Given the description of an element on the screen output the (x, y) to click on. 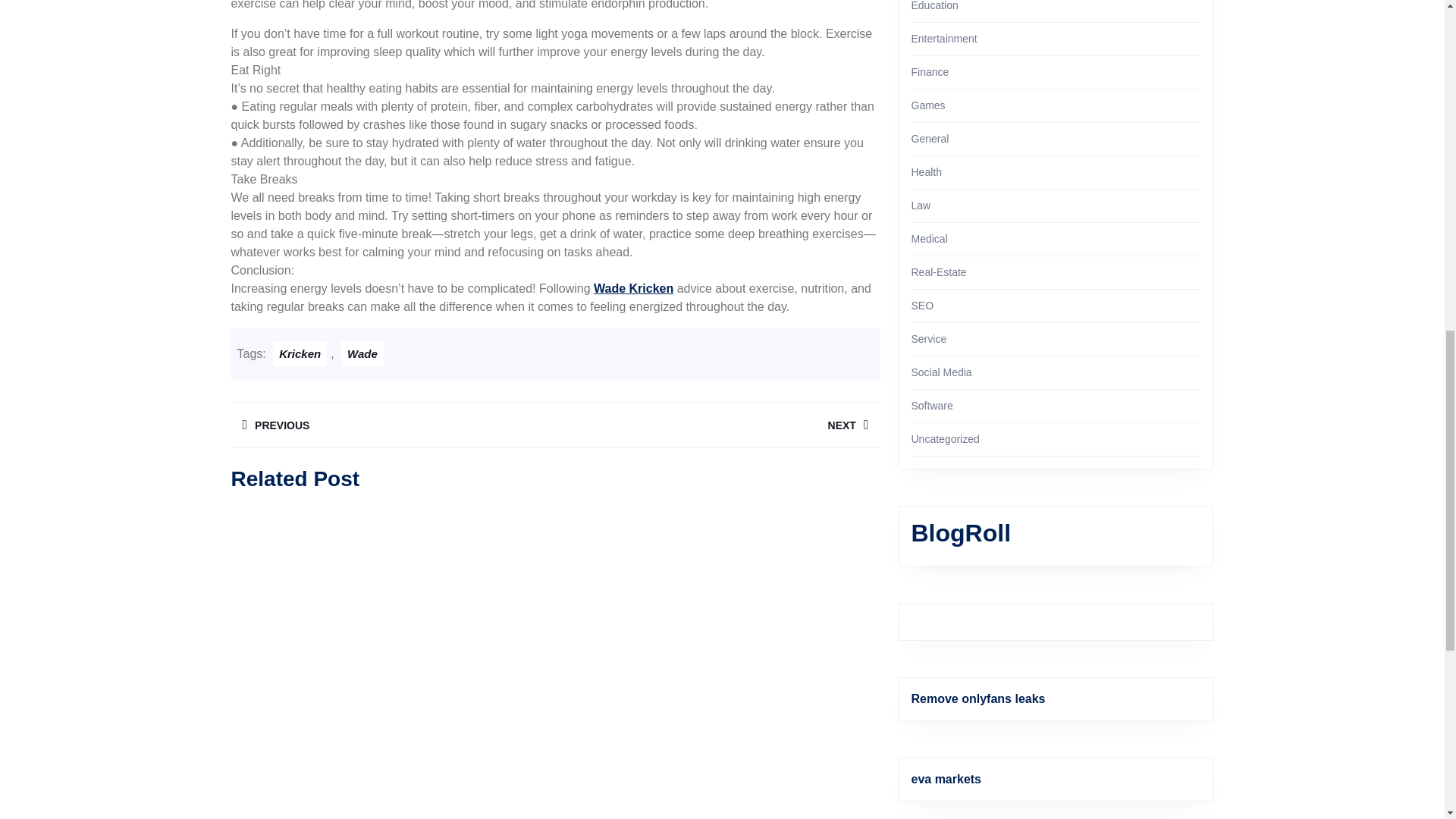
General (930, 138)
Wade Kricken (633, 287)
Games (392, 424)
Finance (927, 105)
Wade (930, 71)
Entertainment (716, 424)
Education (362, 353)
Kricken (943, 38)
